Given the description of an element on the screen output the (x, y) to click on. 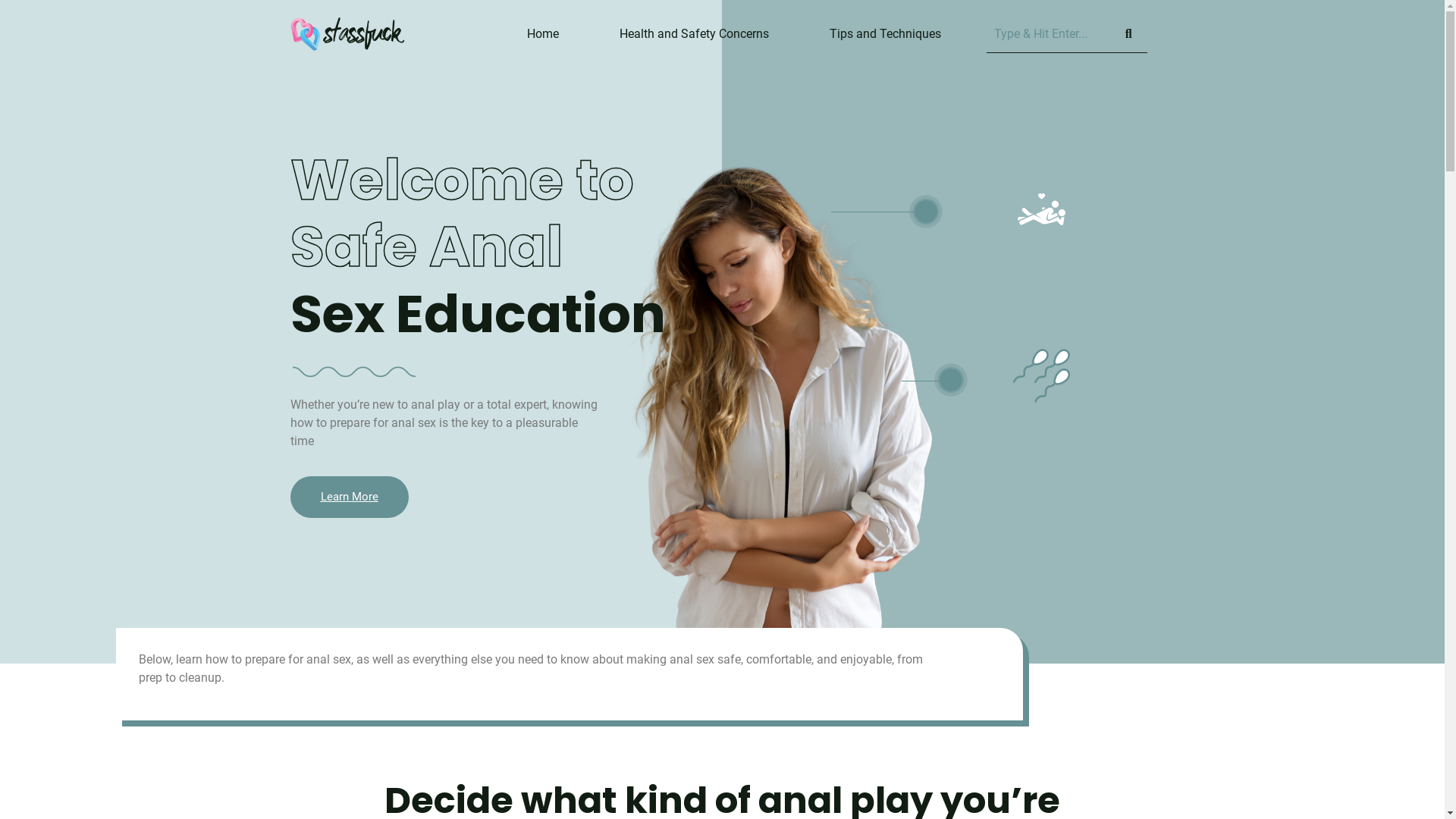
Search Element type: hover (1048, 33)
Home Element type: text (541, 33)
Health and Safety Concerns Element type: text (694, 33)
Learn More Element type: text (348, 496)
Tips and Techniques Element type: text (885, 33)
